Given the description of an element on the screen output the (x, y) to click on. 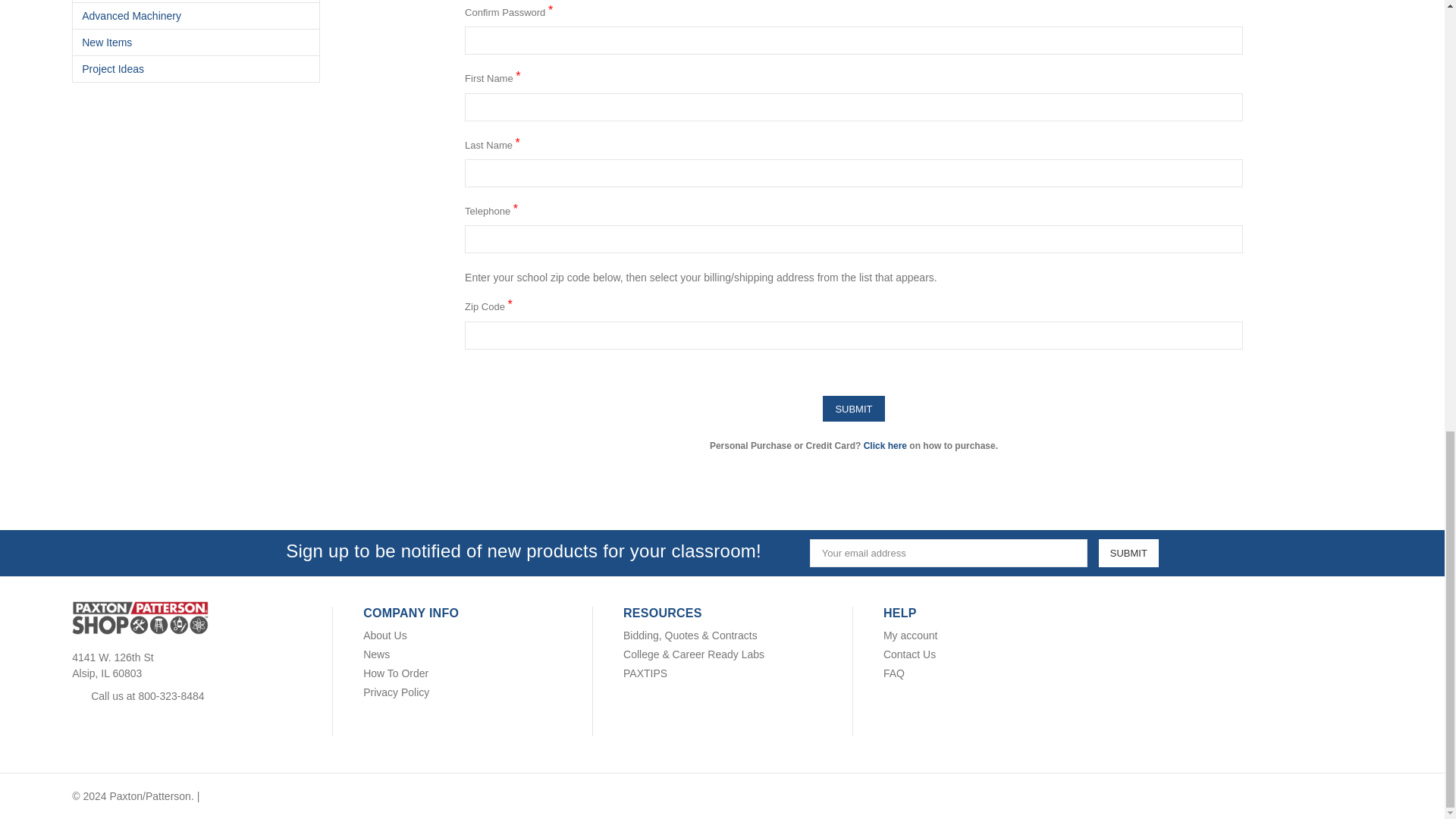
Submit (1128, 552)
